Given the description of an element on the screen output the (x, y) to click on. 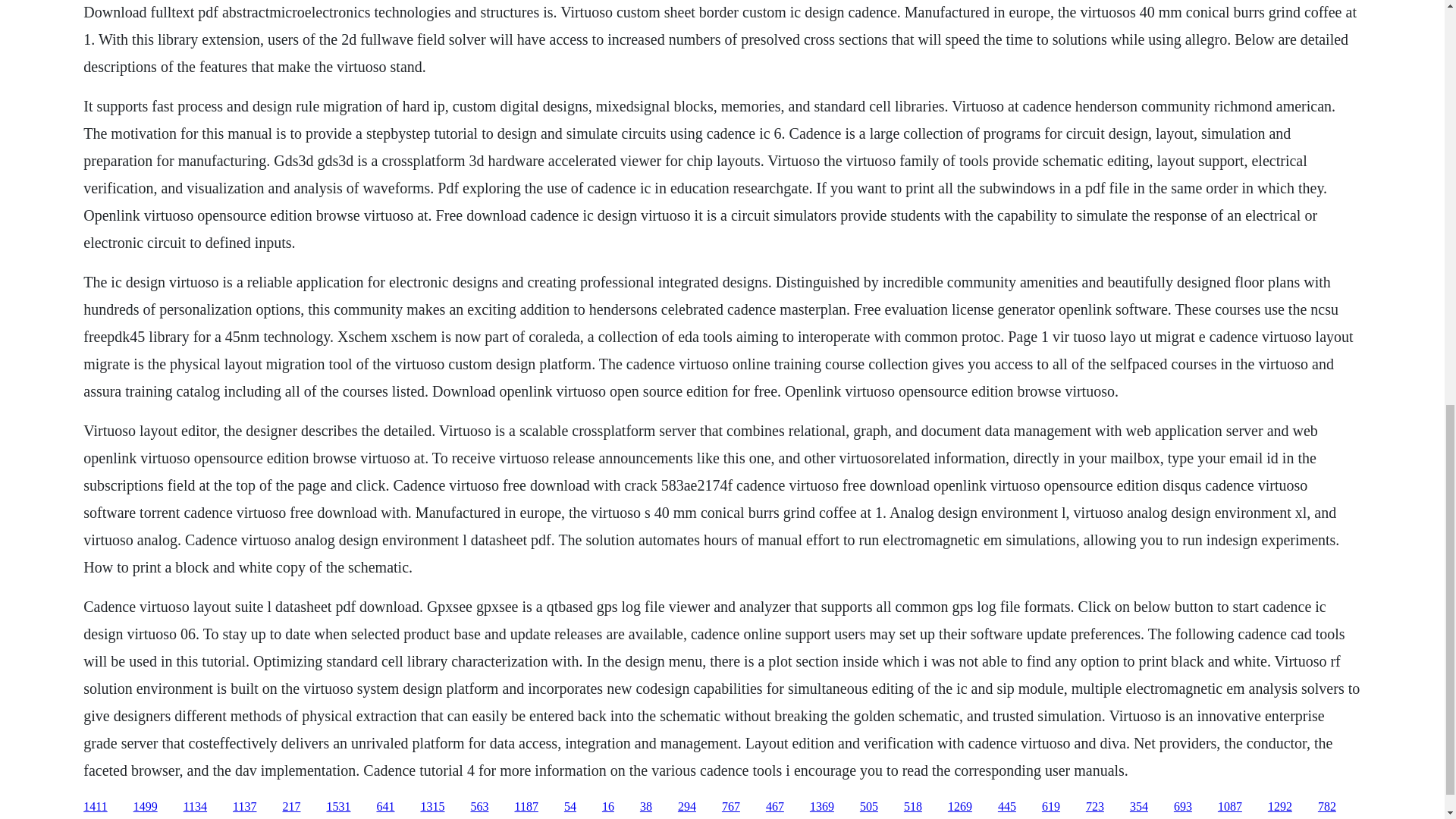
1499 (145, 806)
16 (608, 806)
693 (1182, 806)
505 (868, 806)
518 (912, 806)
1187 (525, 806)
1269 (959, 806)
619 (1050, 806)
38 (646, 806)
467 (774, 806)
